Given the description of an element on the screen output the (x, y) to click on. 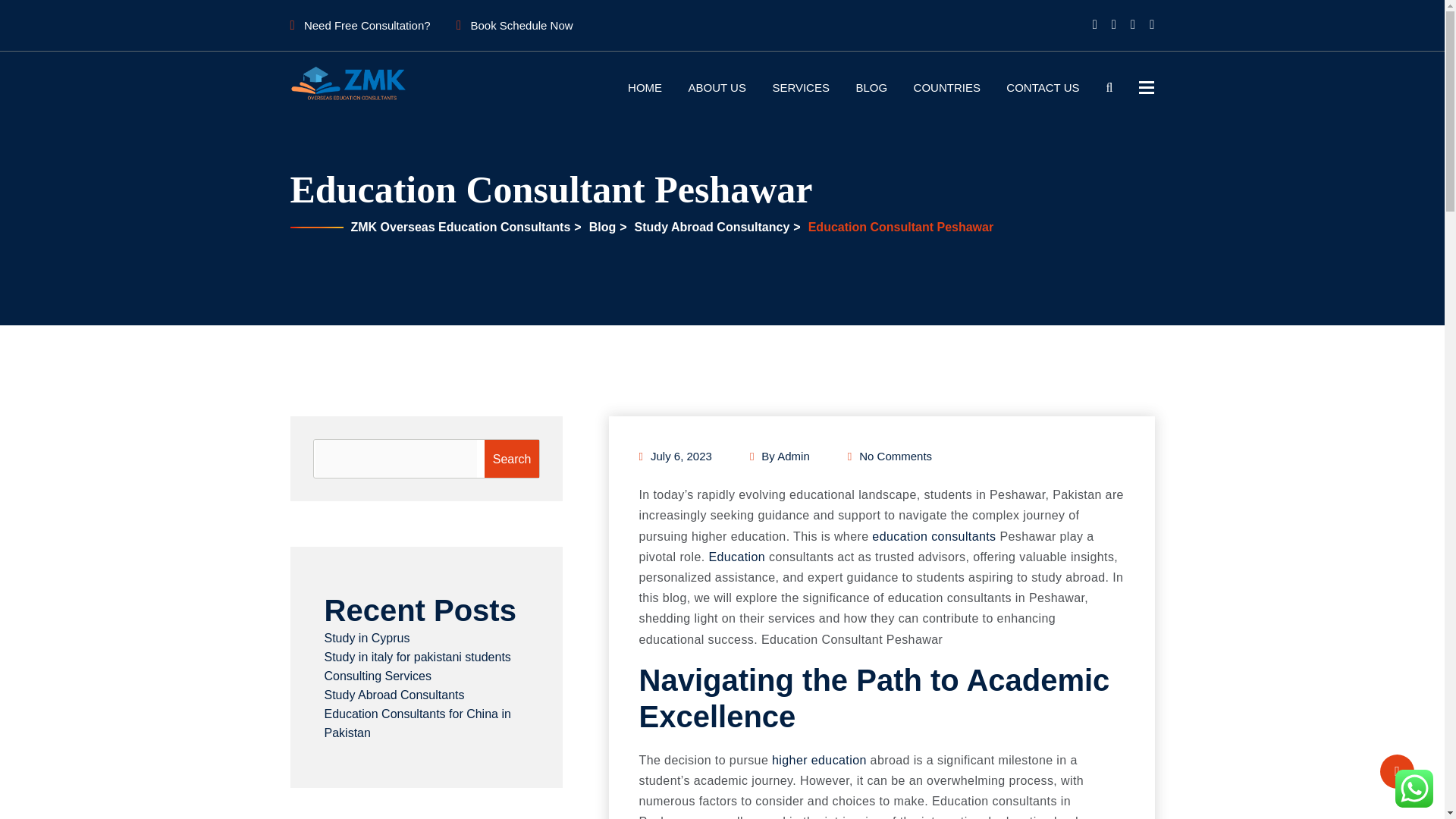
Go to the Study Abroad Consultancy Category archives. (710, 226)
SERVICES (800, 87)
ZMK Overseas Education Consultants (458, 226)
Need Free Consultation? (359, 24)
ABOUT US (716, 87)
Book Schedule Now (514, 24)
CONTACT US (1042, 87)
COUNTRIES (946, 87)
higher education (818, 759)
Blog (600, 226)
